Given the description of an element on the screen output the (x, y) to click on. 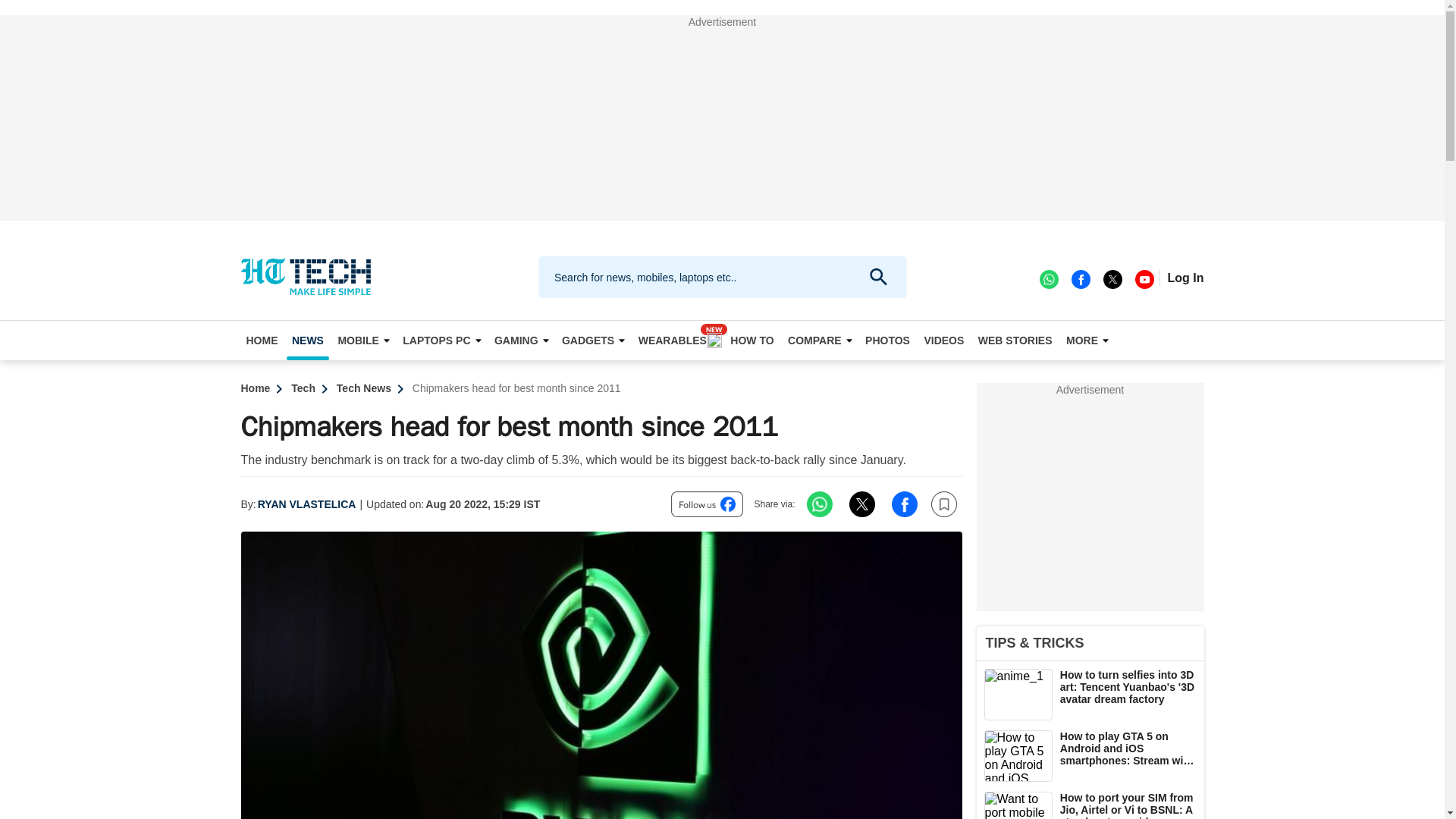
GADGETS (592, 340)
NEWS (307, 340)
HOME (262, 340)
facebook (1079, 278)
HOW TO (751, 340)
COMPARE (820, 340)
youtube (1143, 278)
twitter (1111, 278)
MOBILE (362, 340)
Login (1185, 277)
LAPTOPS PC (440, 340)
GAMING (521, 340)
WEARABLES (677, 340)
